Given the description of an element on the screen output the (x, y) to click on. 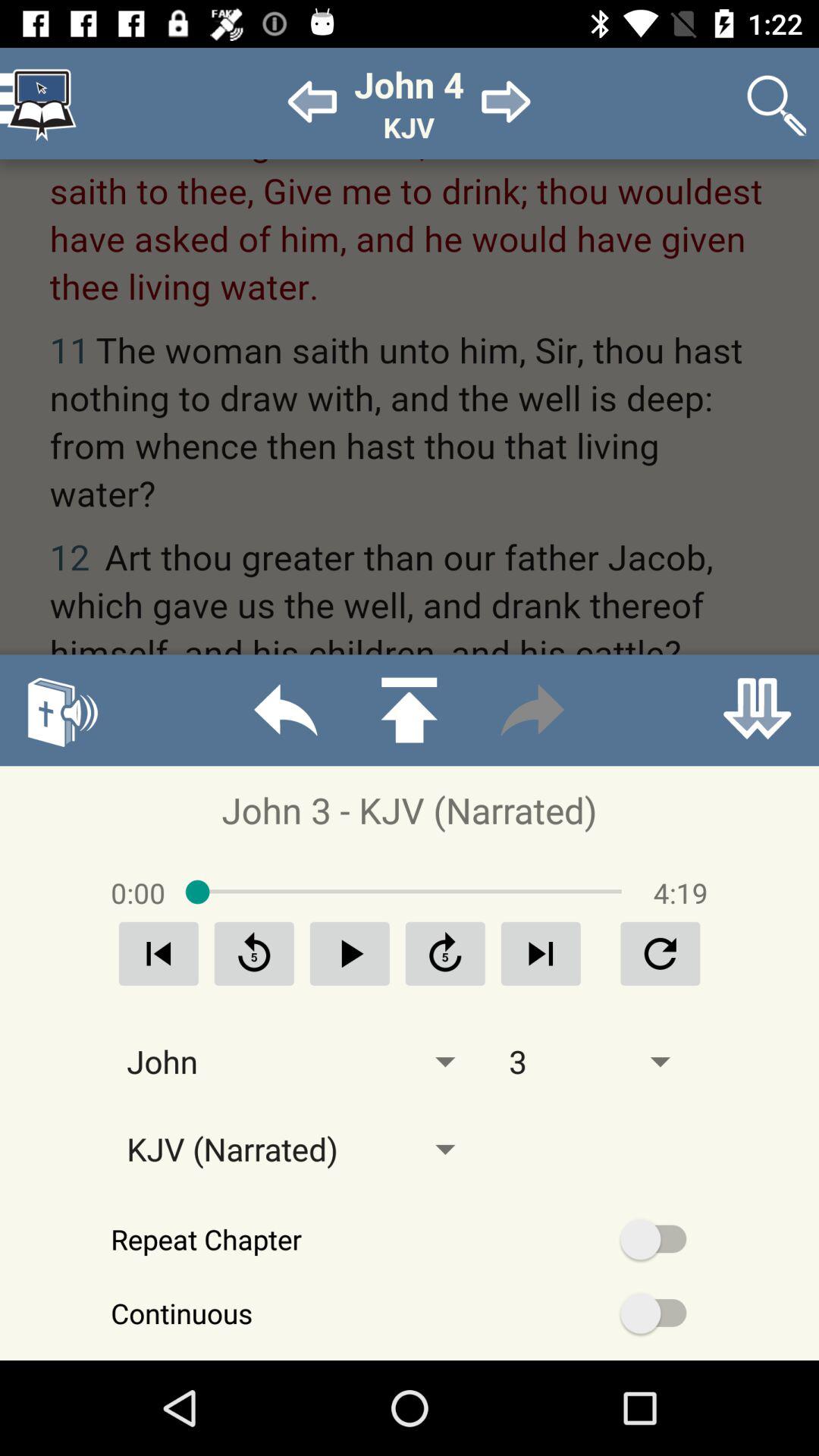
play option (349, 953)
